Given the description of an element on the screen output the (x, y) to click on. 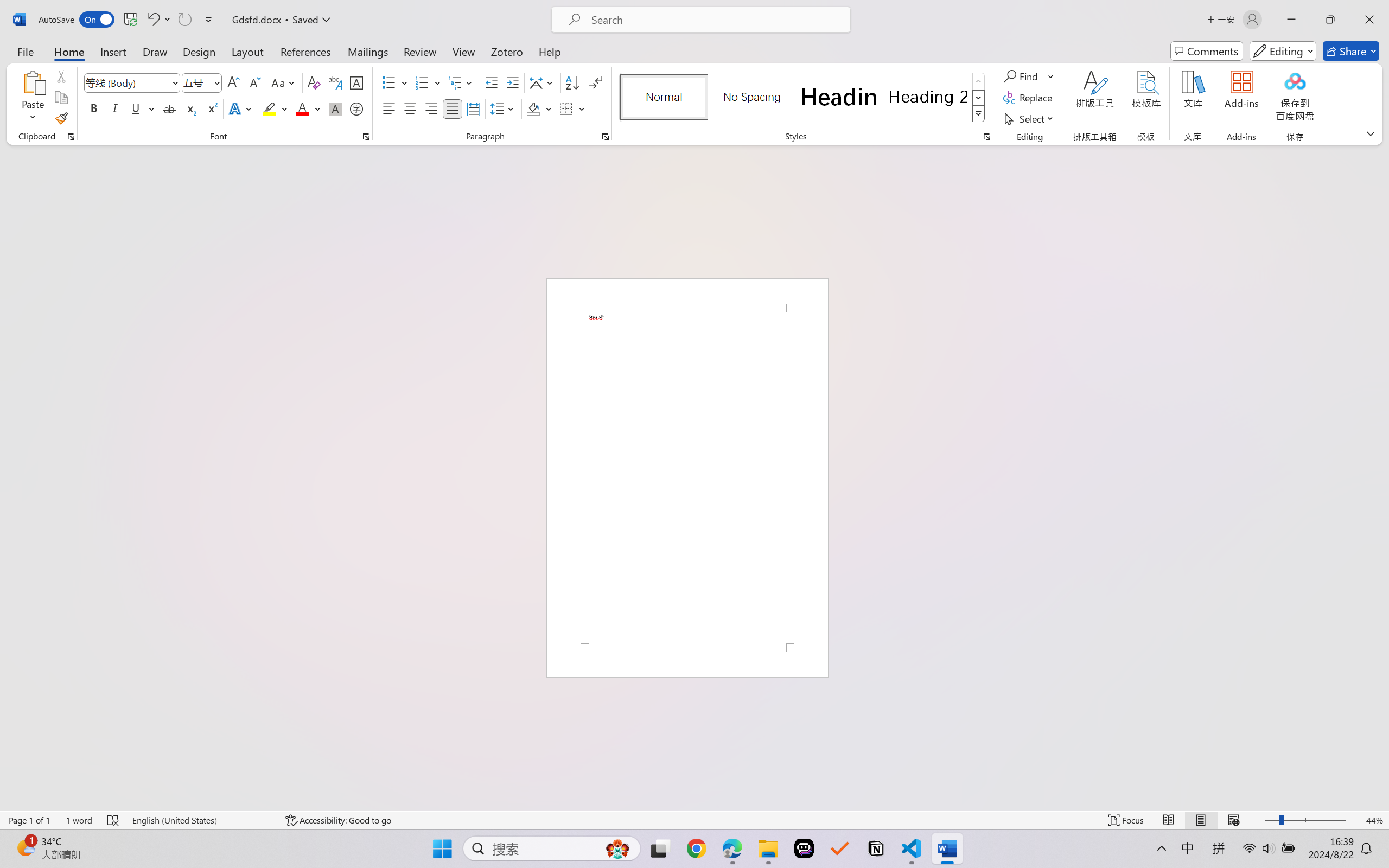
Undo Apply Quick Style (152, 19)
